Given the description of an element on the screen output the (x, y) to click on. 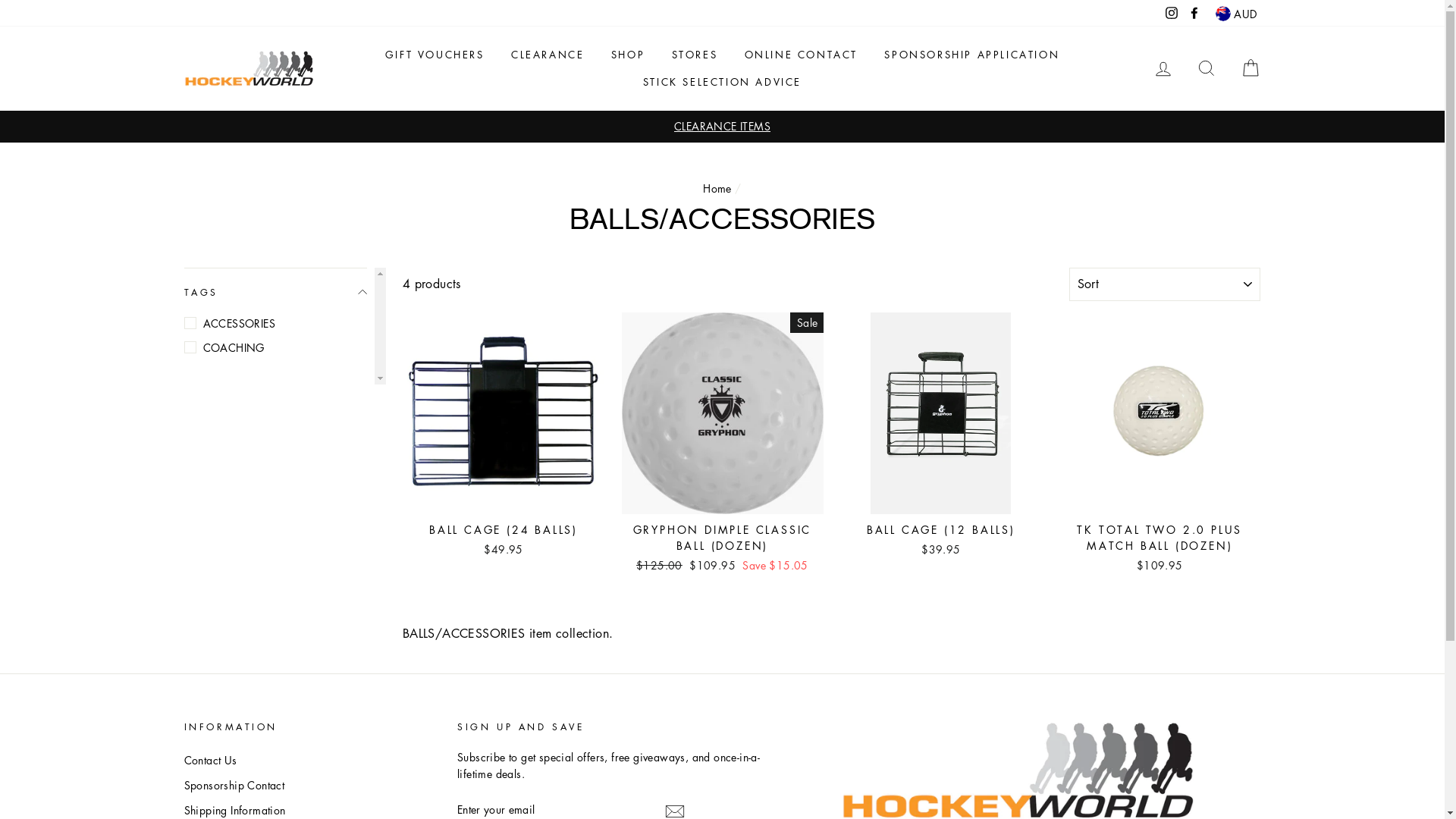
CLEARANCE ITEMS Element type: text (722, 126)
STICK SELECTION ADVICE Element type: text (721, 81)
Facebook Element type: text (1194, 12)
Contact Us Element type: text (209, 760)
SHOP Element type: text (627, 55)
BALL CAGE (24 BALLS)
$49.95 Element type: text (503, 436)
COACHING Element type: text (274, 346)
GIFT VOUCHERS Element type: text (434, 55)
ONLINE CONTACT Element type: text (801, 55)
Skip to content Element type: text (0, 0)
SEARCH Element type: text (1206, 68)
Home Element type: text (716, 187)
BALL CAGE (12 BALLS)
$39.95 Element type: text (940, 436)
Instagram Element type: text (1171, 12)
CLEARANCE Element type: text (547, 55)
ACCESSORIES Element type: text (274, 322)
Sponsorship Contact Element type: text (233, 785)
TAGS Element type: text (274, 292)
AUD Element type: text (1235, 12)
STORES Element type: text (694, 55)
TK TOTAL TWO 2.0 PLUS MATCH BALL (DOZEN)
$109.95 Element type: text (1159, 444)
SPONSORSHIP APPLICATION Element type: text (971, 55)
CART Element type: text (1249, 68)
LOG IN Element type: text (1163, 68)
